Given the description of an element on the screen output the (x, y) to click on. 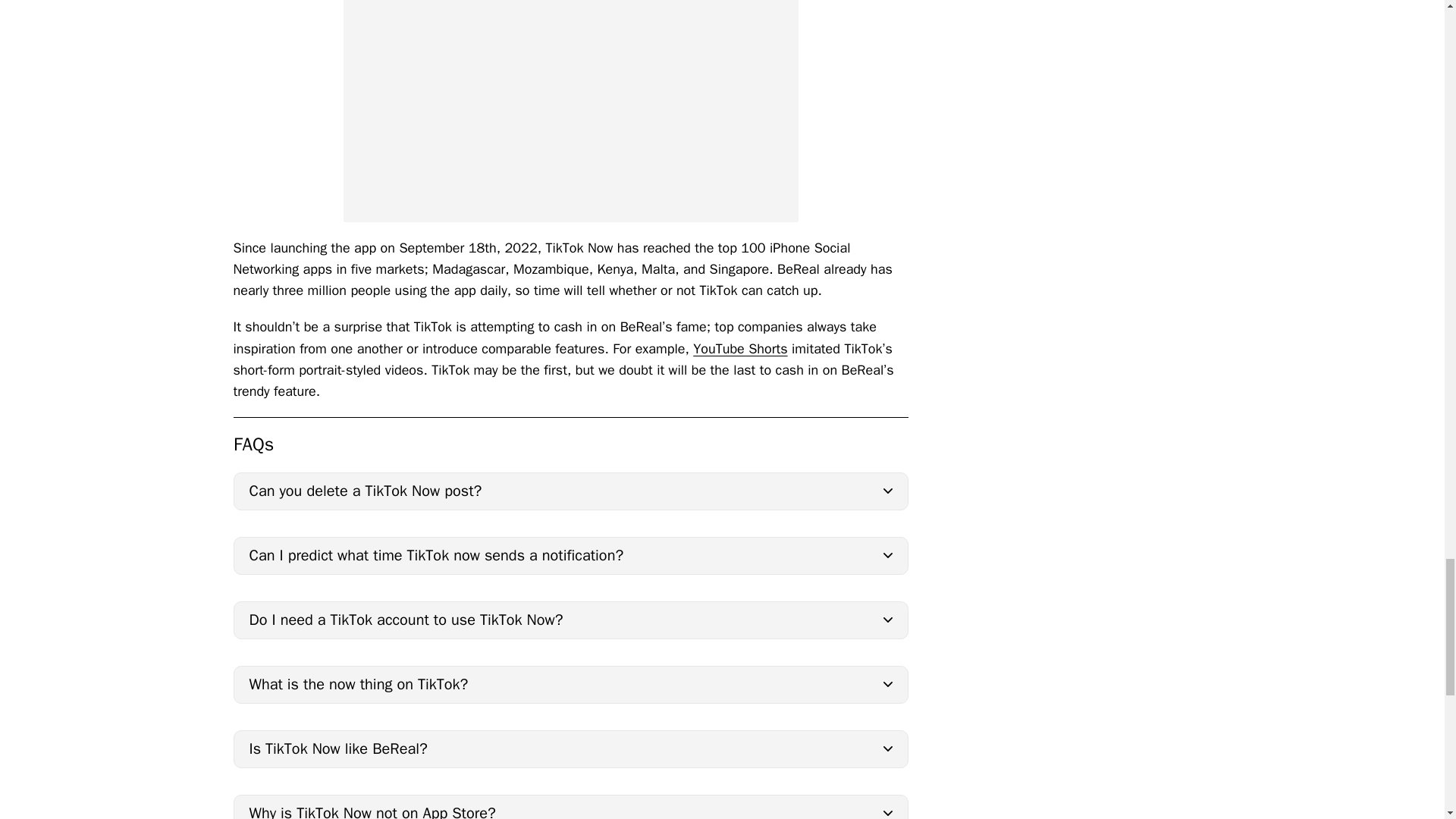
Screenshot 20220926 123645 TikTok Now (569, 110)
Can I predict what time TikTok now sends a notification? (570, 555)
Is TikTok Now like BeReal? (570, 749)
Why is TikTok Now not on App Store? (570, 806)
YouTube Shorts (740, 348)
What is the now thing on TikTok? (570, 684)
Can you delete a TikTok Now post? (570, 491)
Do I need a TikTok account to use TikTok Now? (570, 620)
